Given the description of an element on the screen output the (x, y) to click on. 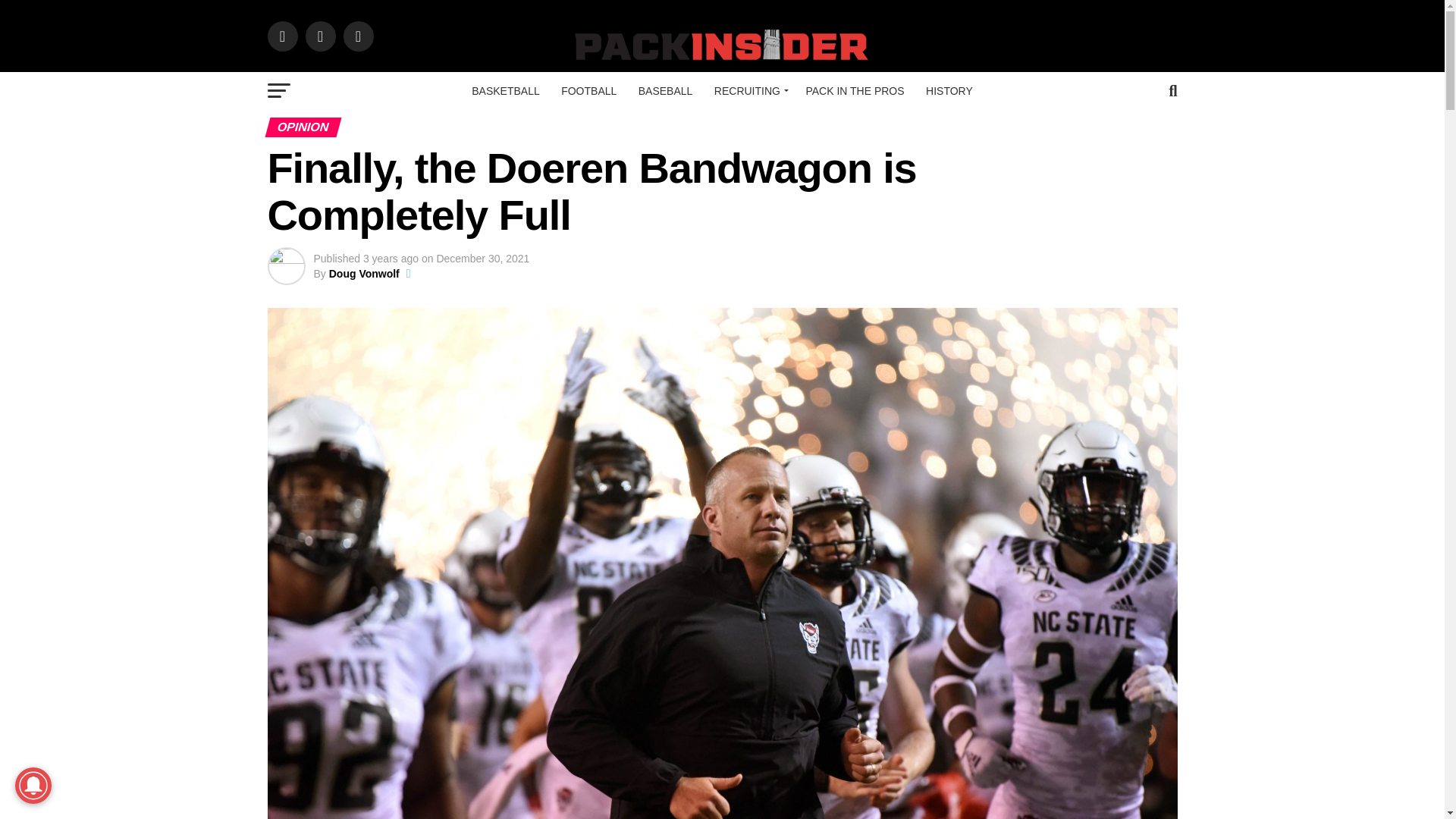
Posts by Doug Vonwolf (363, 273)
BASEBALL (664, 90)
RECRUITING (748, 90)
BASKETBALL (505, 90)
FOOTBALL (588, 90)
